Given the description of an element on the screen output the (x, y) to click on. 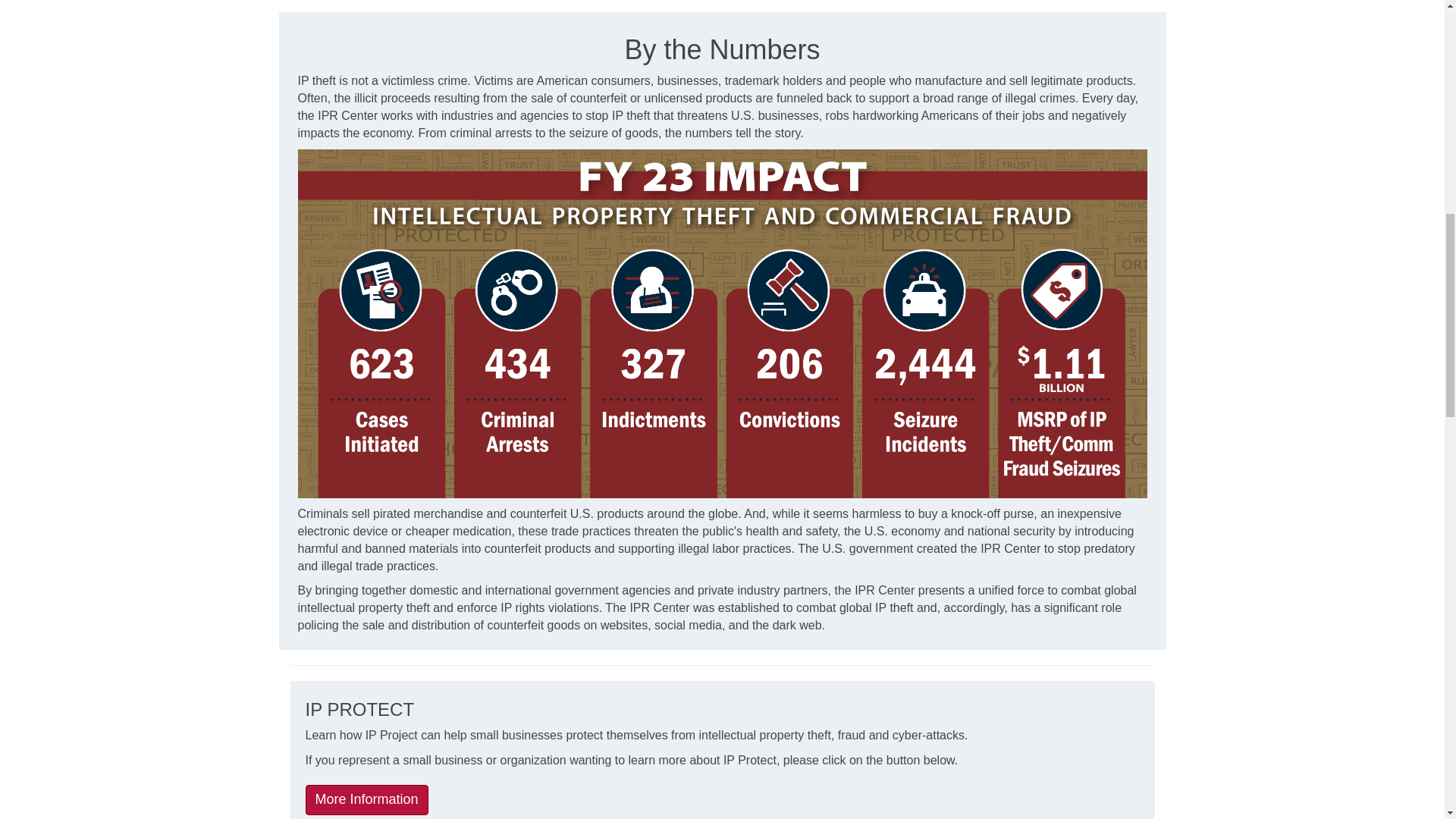
More Information (366, 799)
